Given the description of an element on the screen output the (x, y) to click on. 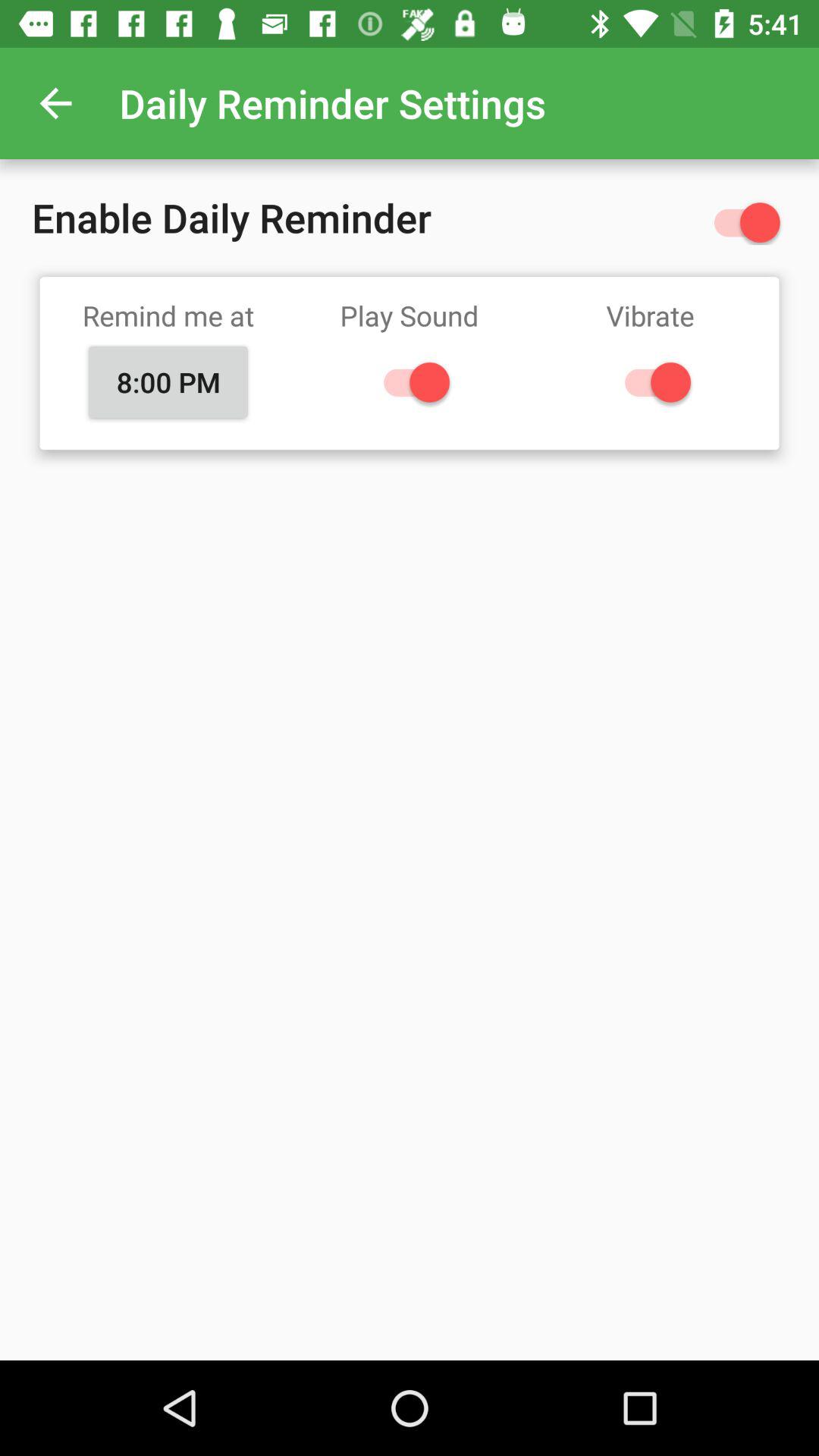
select the icon below remind me at item (167, 381)
